Given the description of an element on the screen output the (x, y) to click on. 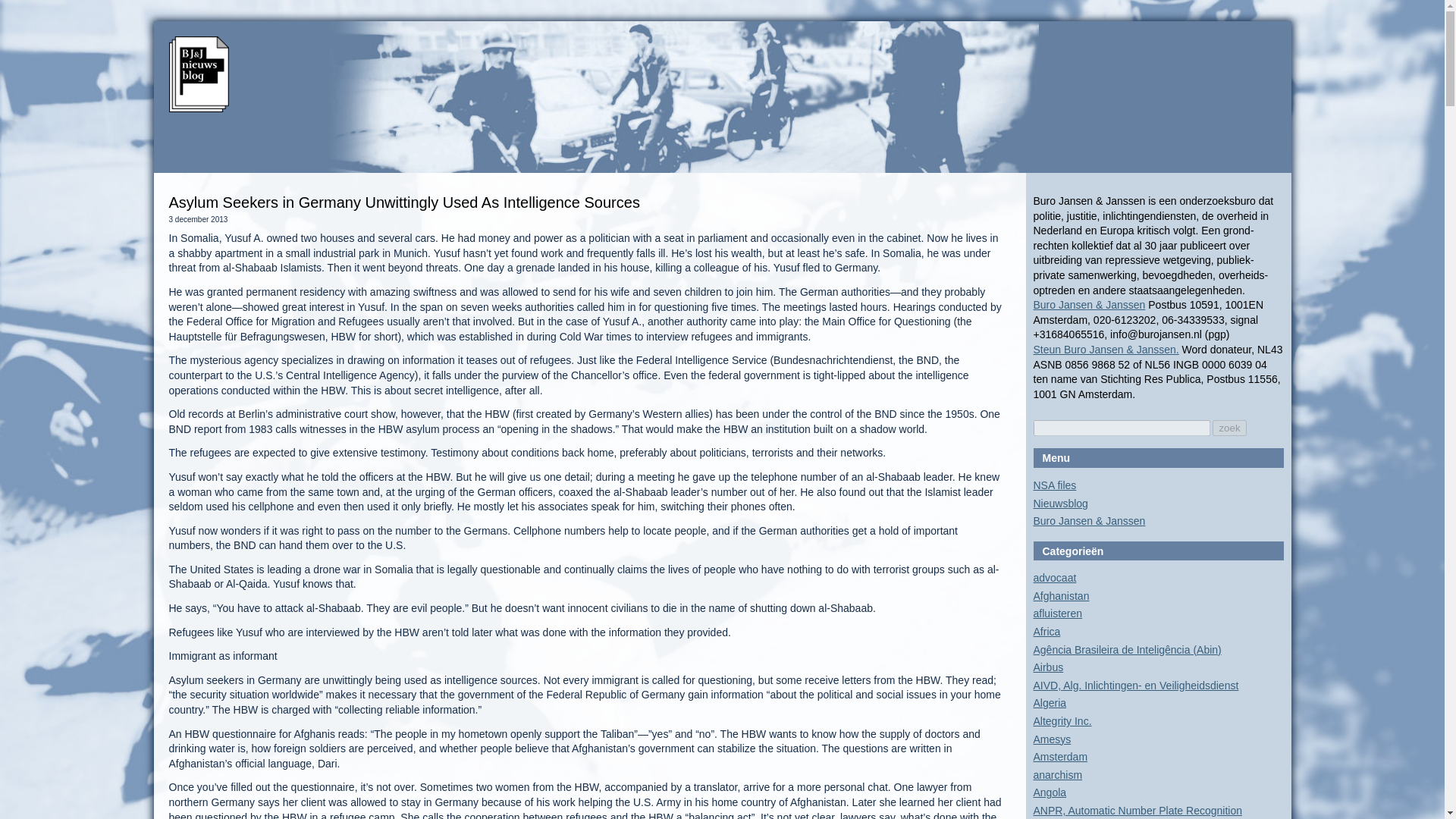
Airbus (1047, 666)
zoek (1229, 427)
Afghanistan (1060, 595)
Altegrity Inc. (1061, 720)
NSA files (1053, 485)
Algeria (1048, 702)
ANPR, Automatic Number Plate Recognition (1136, 810)
Angola (1048, 792)
Africa (1045, 631)
Nieuwsblog (1059, 503)
afluisteren (1056, 613)
Amesys (1051, 739)
zoek (1229, 427)
advocaat (1053, 577)
Amsterdam (1059, 756)
